Given the description of an element on the screen output the (x, y) to click on. 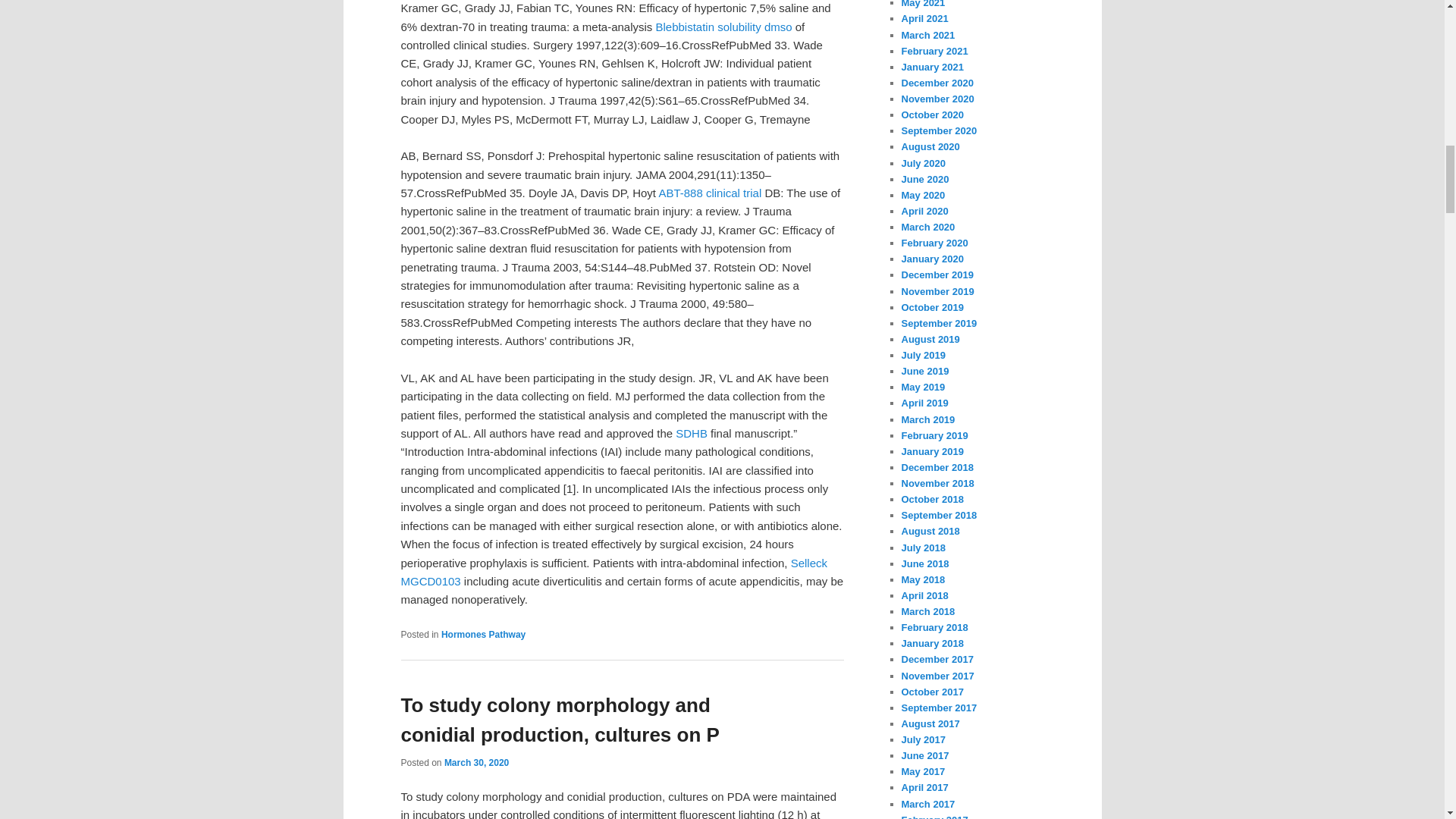
Hormones Pathway (483, 634)
View all posts in Hormones Pathway (483, 634)
10:19 am (476, 762)
March 30, 2020 (476, 762)
SDHB (691, 432)
Selleck MGCD0103 (613, 572)
Blebbistatin solubility dmso (723, 26)
ABT-888 clinical trial (709, 192)
